Given the description of an element on the screen output the (x, y) to click on. 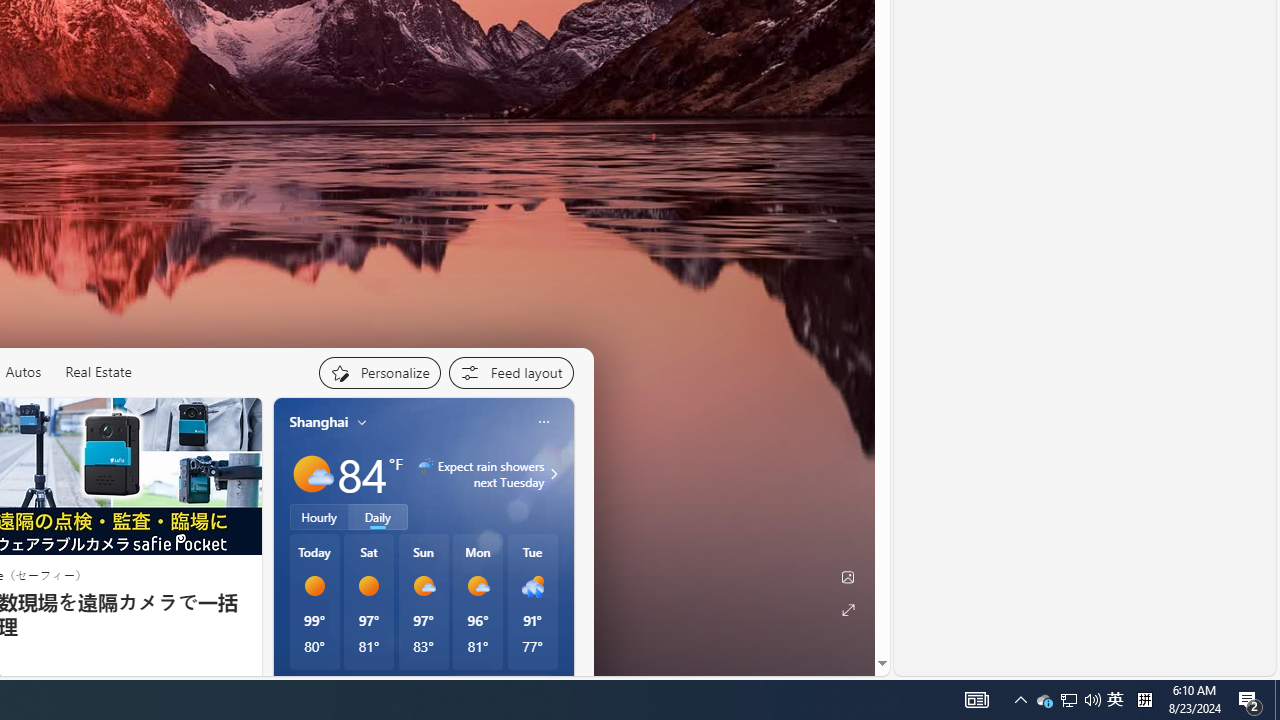
Expand background (847, 610)
Daily (378, 516)
Class: weather-arrow-glyph (554, 474)
Expect rain showers next Tuesday (551, 474)
Shanghai (319, 422)
